Given the description of an element on the screen output the (x, y) to click on. 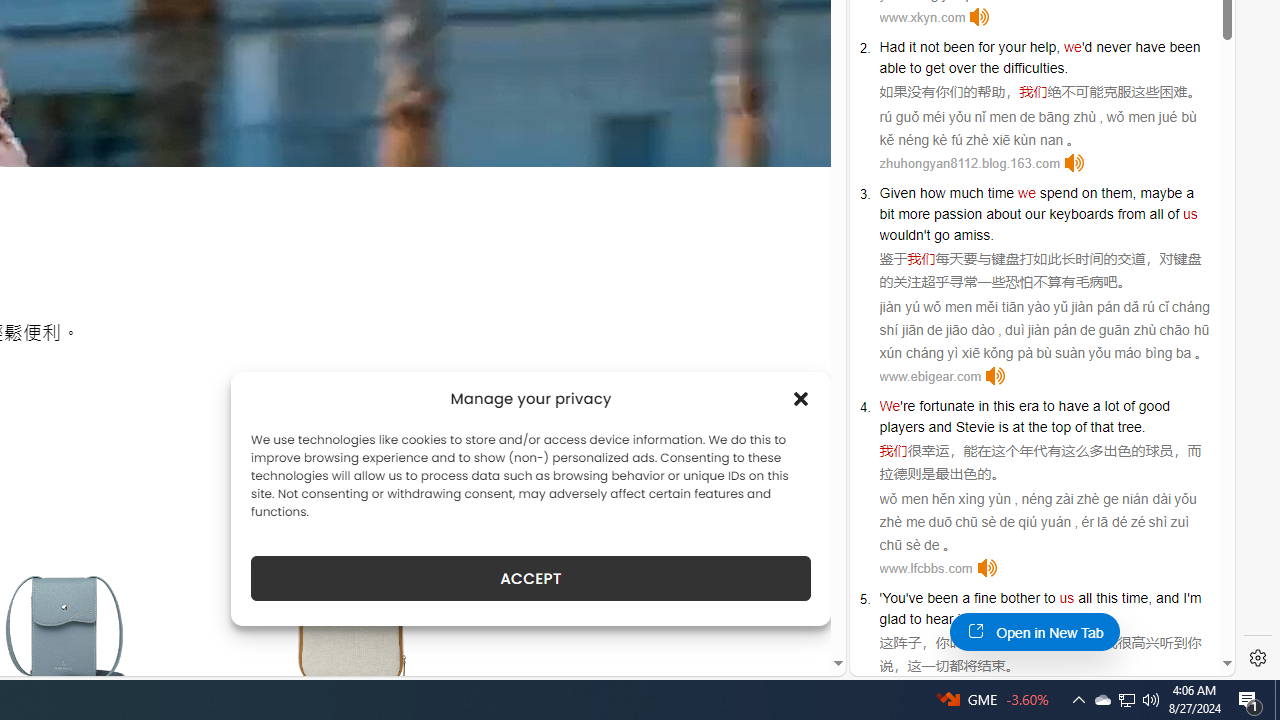
zhuhongyan8112.blog.163.com (969, 163)
Given (897, 192)
and (940, 426)
is (1003, 426)
Click to listen (986, 568)
' (881, 597)
